Given the description of an element on the screen output the (x, y) to click on. 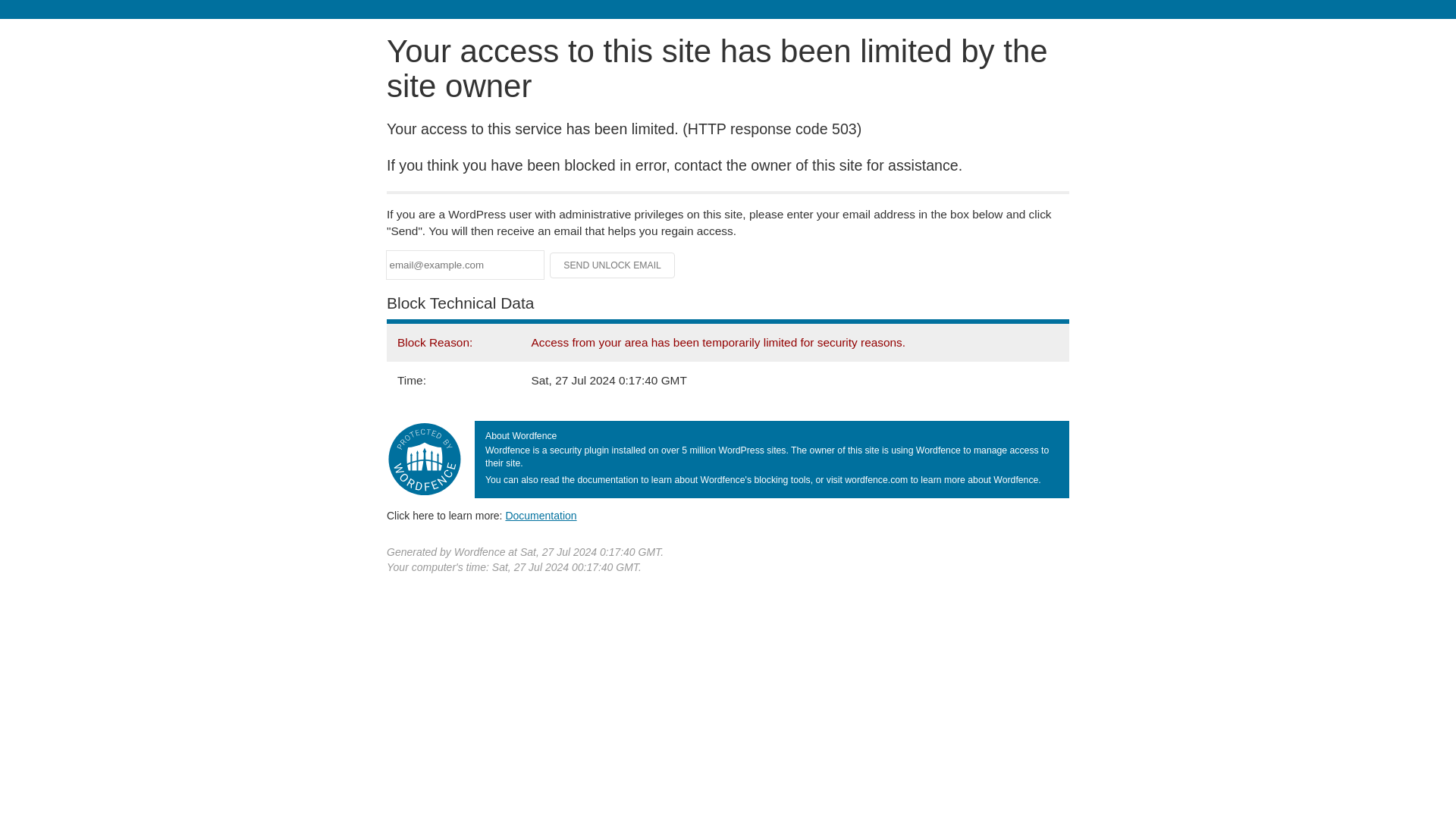
Send Unlock Email (612, 265)
Documentation (540, 515)
Send Unlock Email (612, 265)
